Given the description of an element on the screen output the (x, y) to click on. 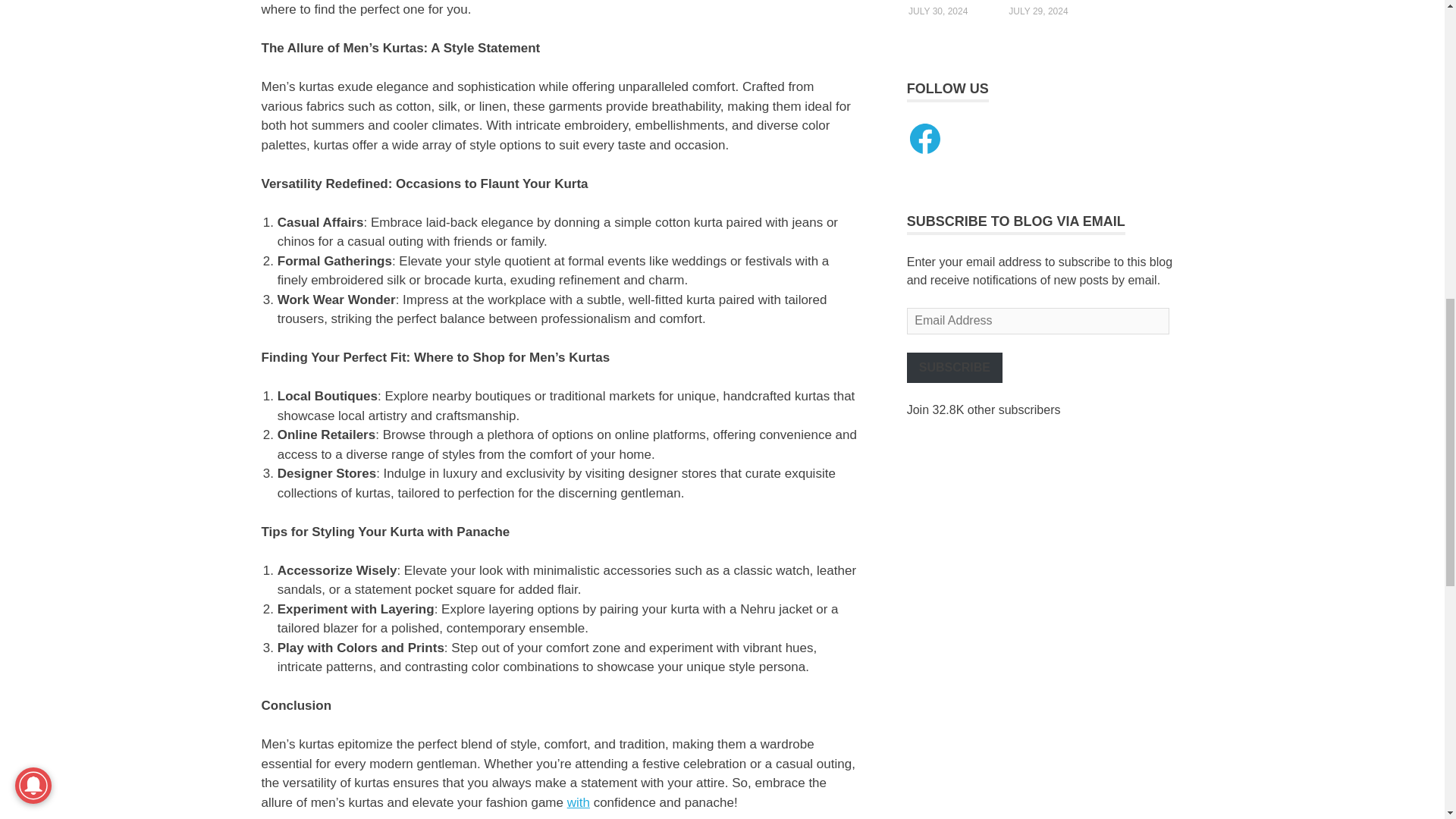
with (578, 802)
